Given the description of an element on the screen output the (x, y) to click on. 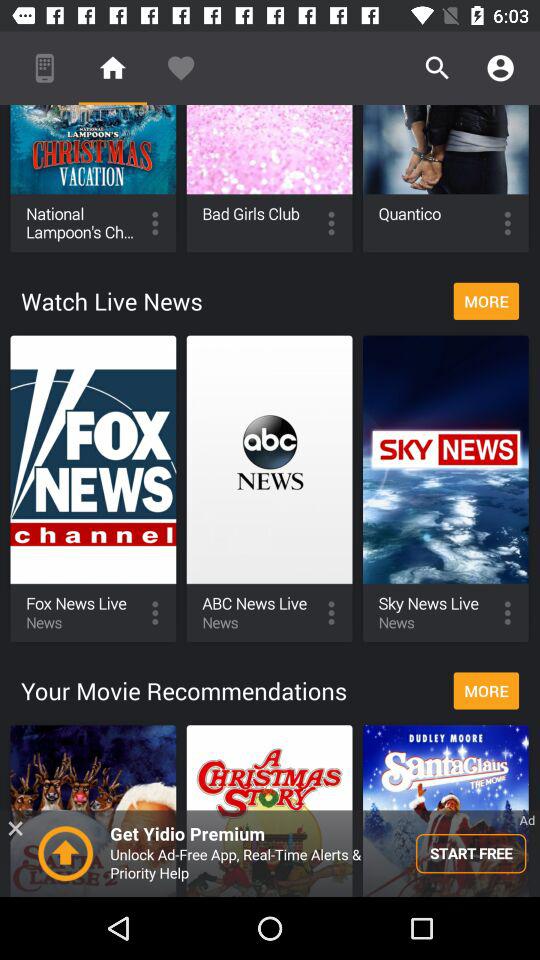
choose the item below the more (270, 853)
